Given the description of an element on the screen output the (x, y) to click on. 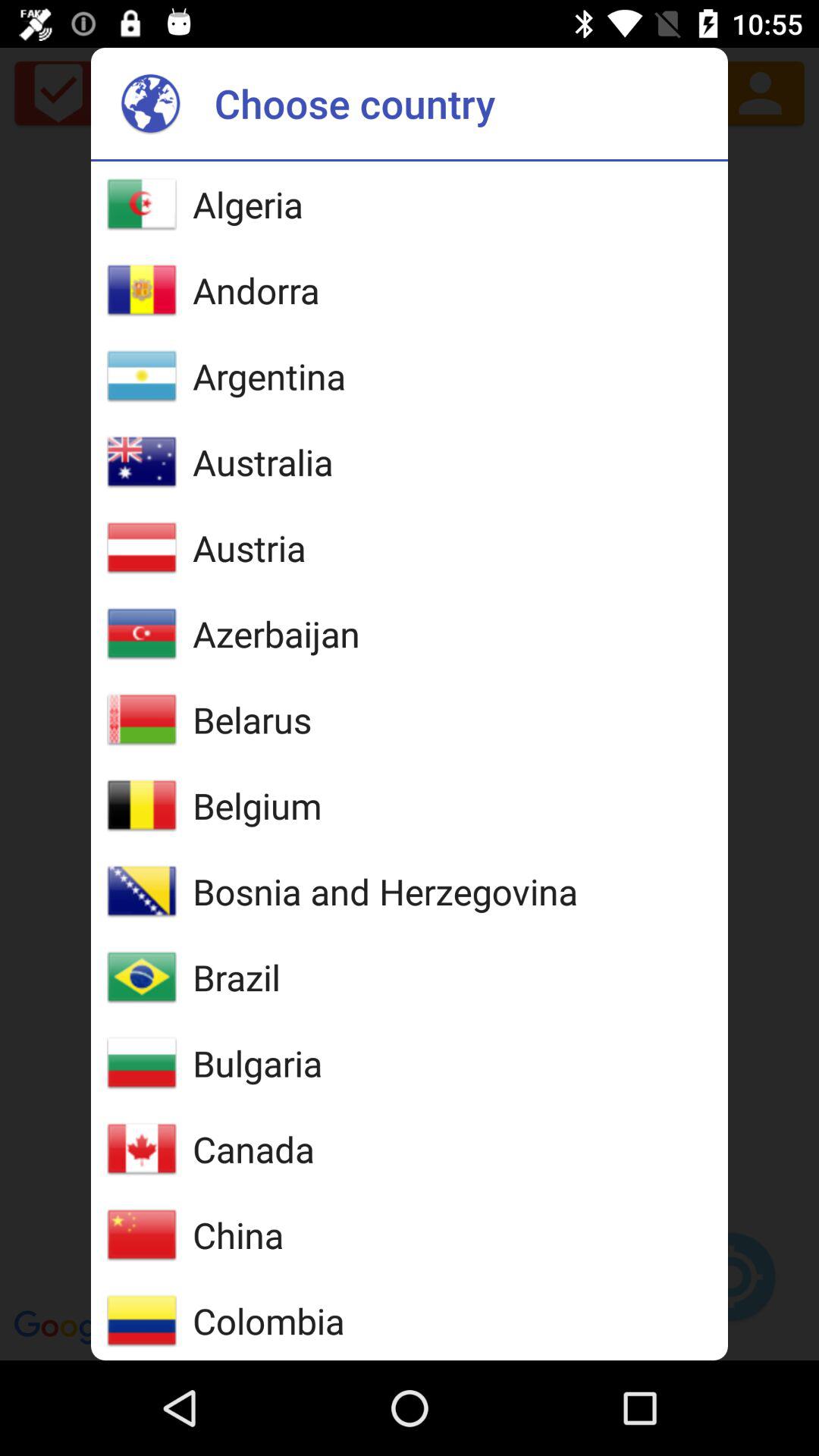
open app to the left of choose country app (150, 103)
